Given the description of an element on the screen output the (x, y) to click on. 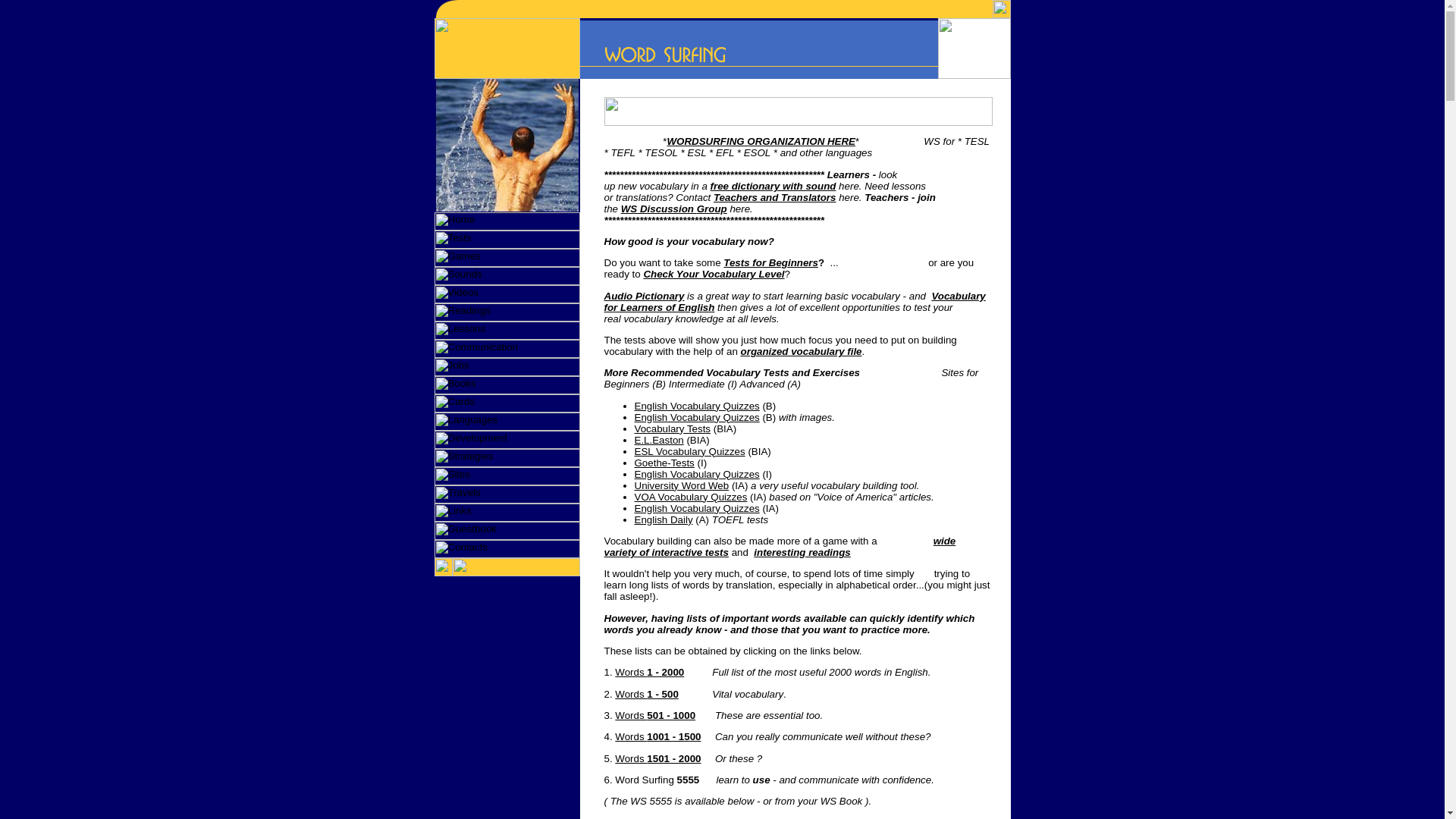
WORDSURFING ORGANIZATION HERE (761, 141)
Vocabulary for Learners of English (794, 301)
free dictionary with sound (772, 185)
English Vocabulary Quizzes (695, 417)
Audio Pictionary (644, 296)
Teachers and Translators (774, 197)
Tests for Beginners (770, 262)
Vocabulary Tests (671, 428)
Check Your Vocabulary Level (713, 274)
WS Discussion Group (673, 208)
English Vocabulary Quizzes (695, 405)
organized vocabulary file (801, 351)
